Given the description of an element on the screen output the (x, y) to click on. 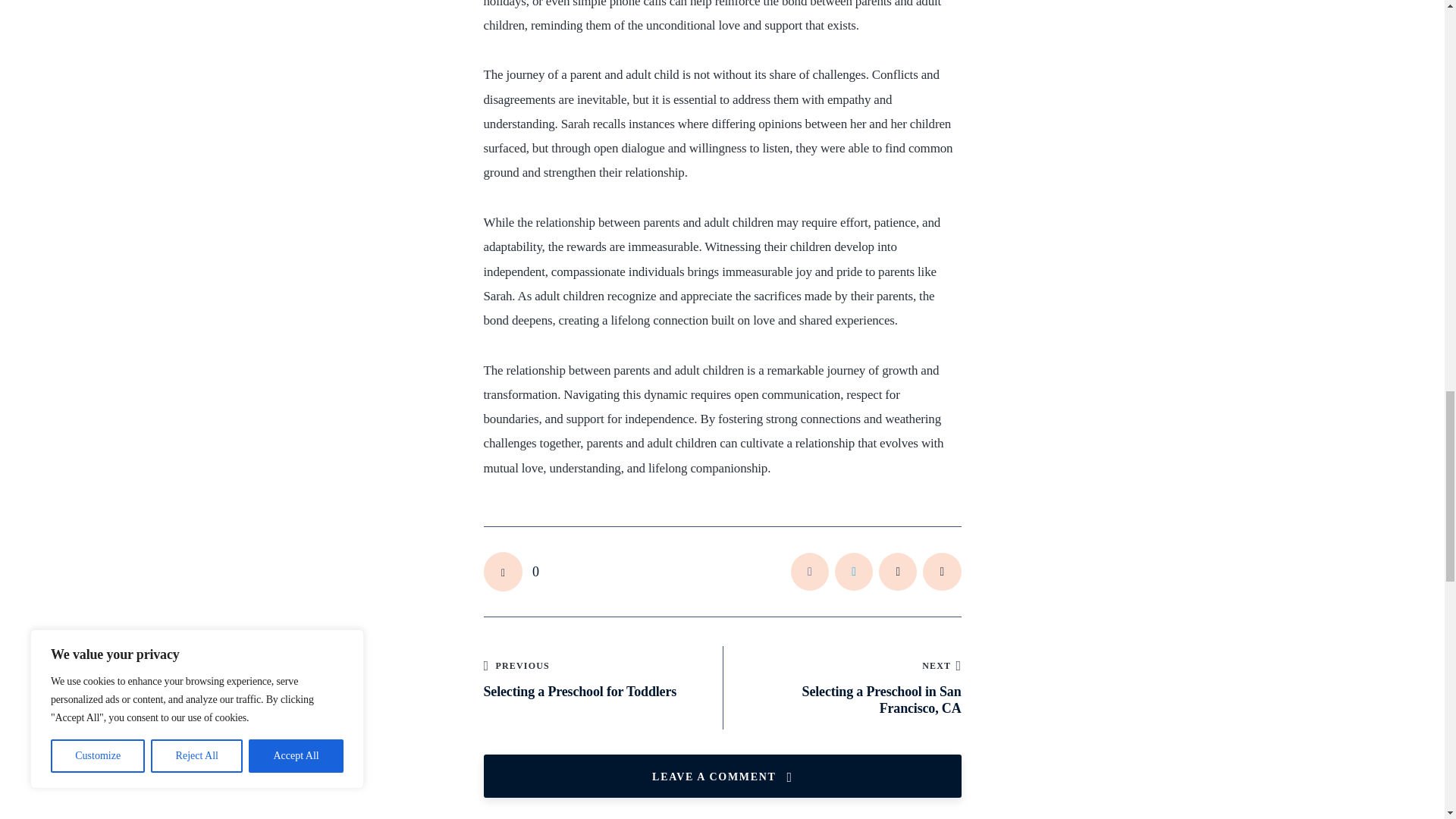
Like (511, 571)
Copy URL to clipboard (941, 571)
